Given the description of an element on the screen output the (x, y) to click on. 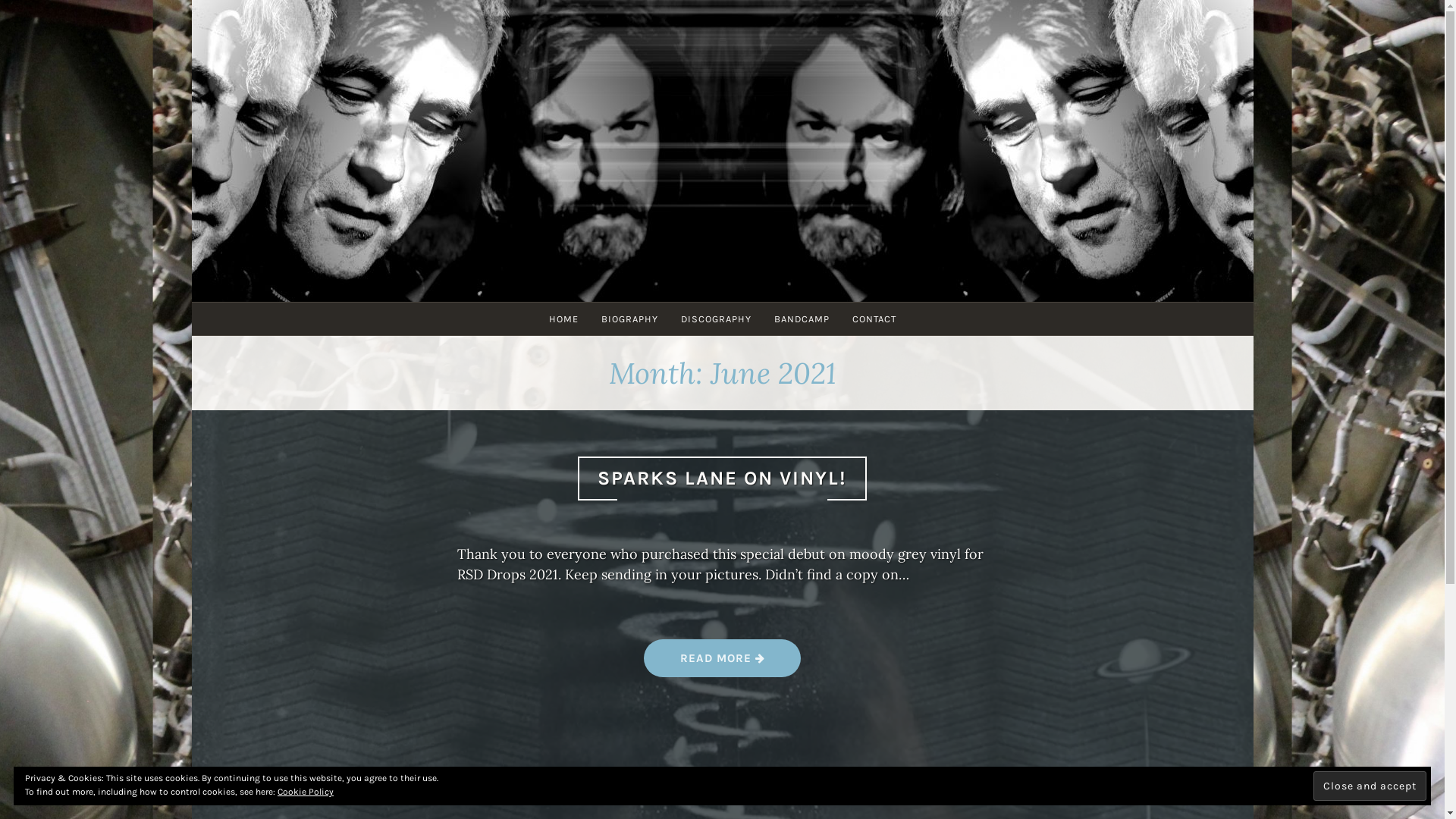
DISCOGRAPHY Element type: text (715, 318)
BIOGRAPHY Element type: text (629, 318)
NOCTORUM Element type: text (769, 162)
BANDCAMP Element type: text (801, 318)
SPARKS LANE ON VINYL! Element type: text (722, 478)
CONTACT Element type: text (873, 318)
Cookie Policy Element type: text (305, 791)
Close and accept Element type: text (1369, 785)
HOME Element type: text (562, 318)
